Given the description of an element on the screen output the (x, y) to click on. 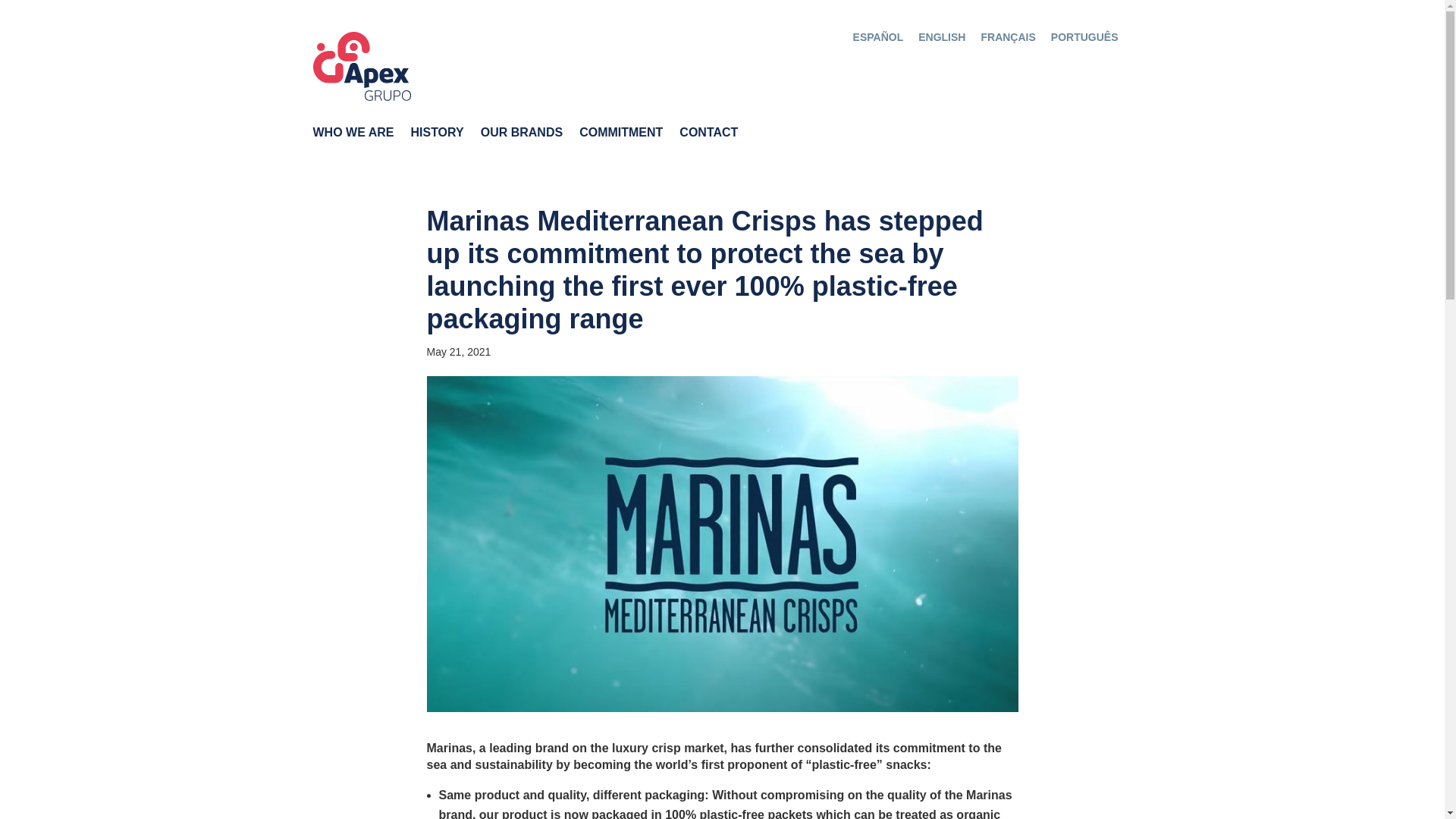
logo-apex-transp (361, 65)
OUR BRANDS (521, 135)
CONTACT (708, 135)
HISTORY (436, 135)
COMMITMENT (620, 135)
WHO WE ARE (353, 135)
ENGLISH (941, 36)
